Given the description of an element on the screen output the (x, y) to click on. 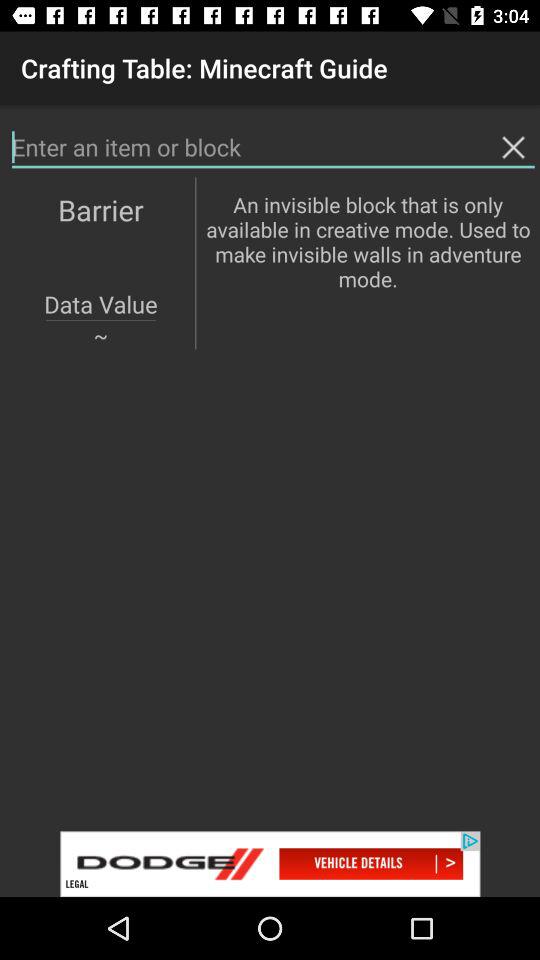
go to advert (270, 864)
